Given the description of an element on the screen output the (x, y) to click on. 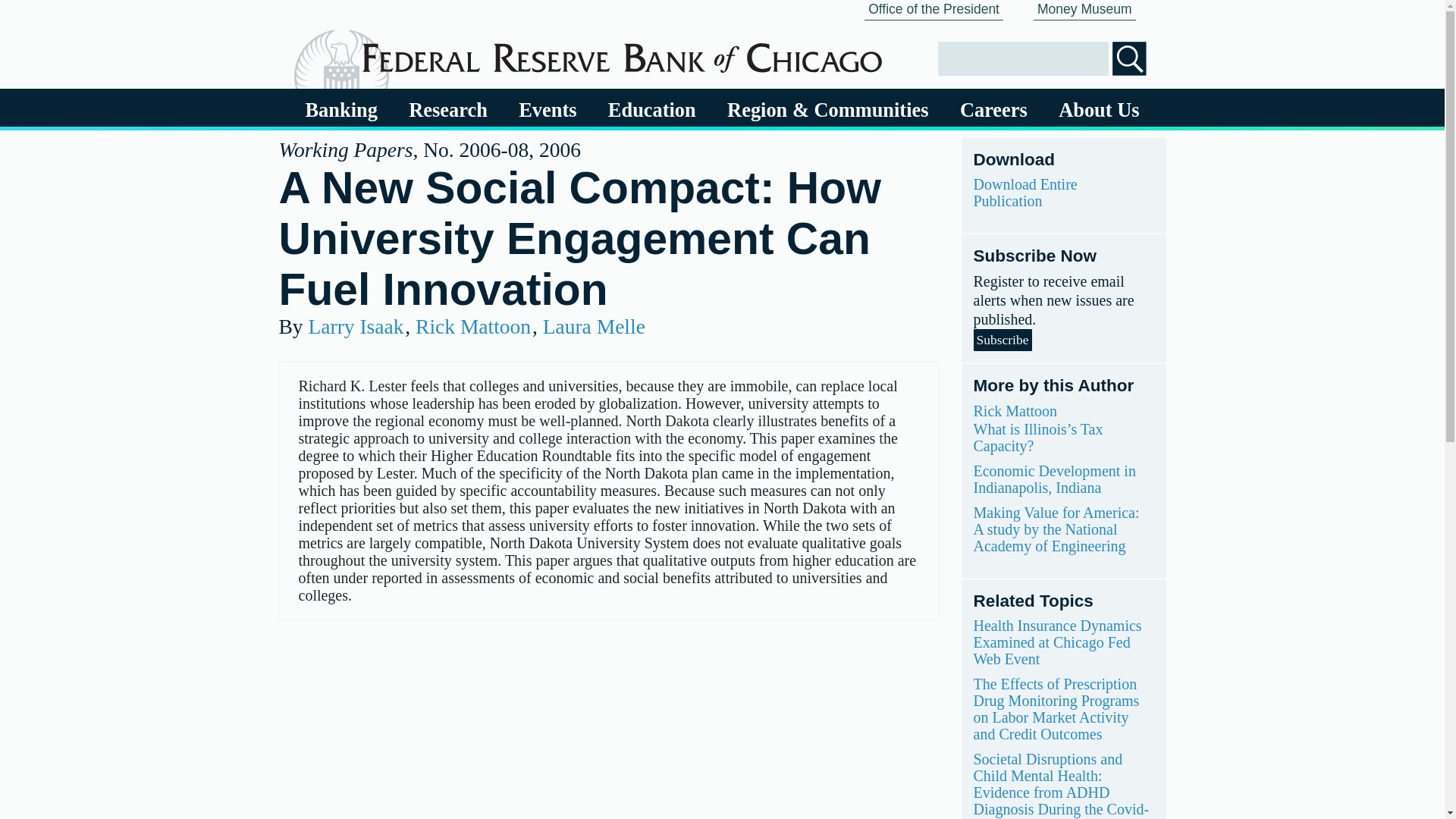
Office of the President (933, 10)
Home (622, 52)
Money Museum (1084, 10)
